Given the description of an element on the screen output the (x, y) to click on. 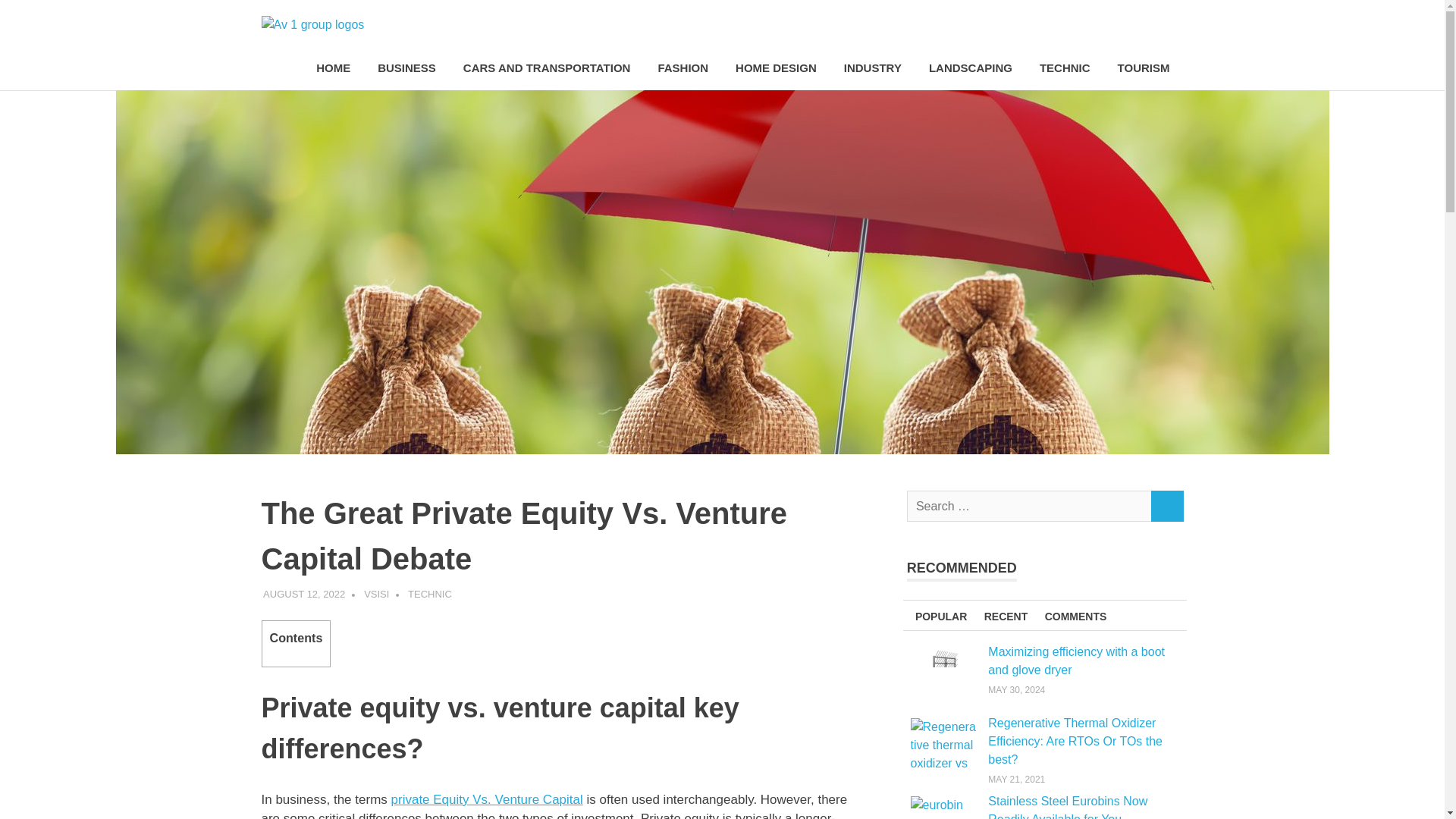
BUSINESS (406, 67)
CARS AND TRANSPORTATION (547, 67)
COMMENTS (1075, 614)
RECENT (1005, 614)
LANDSCAPING (970, 67)
Maximizing efficiency with a boot and glove dryer (1076, 660)
INDUSTRY (872, 67)
TOURISM (1143, 67)
